Given the description of an element on the screen output the (x, y) to click on. 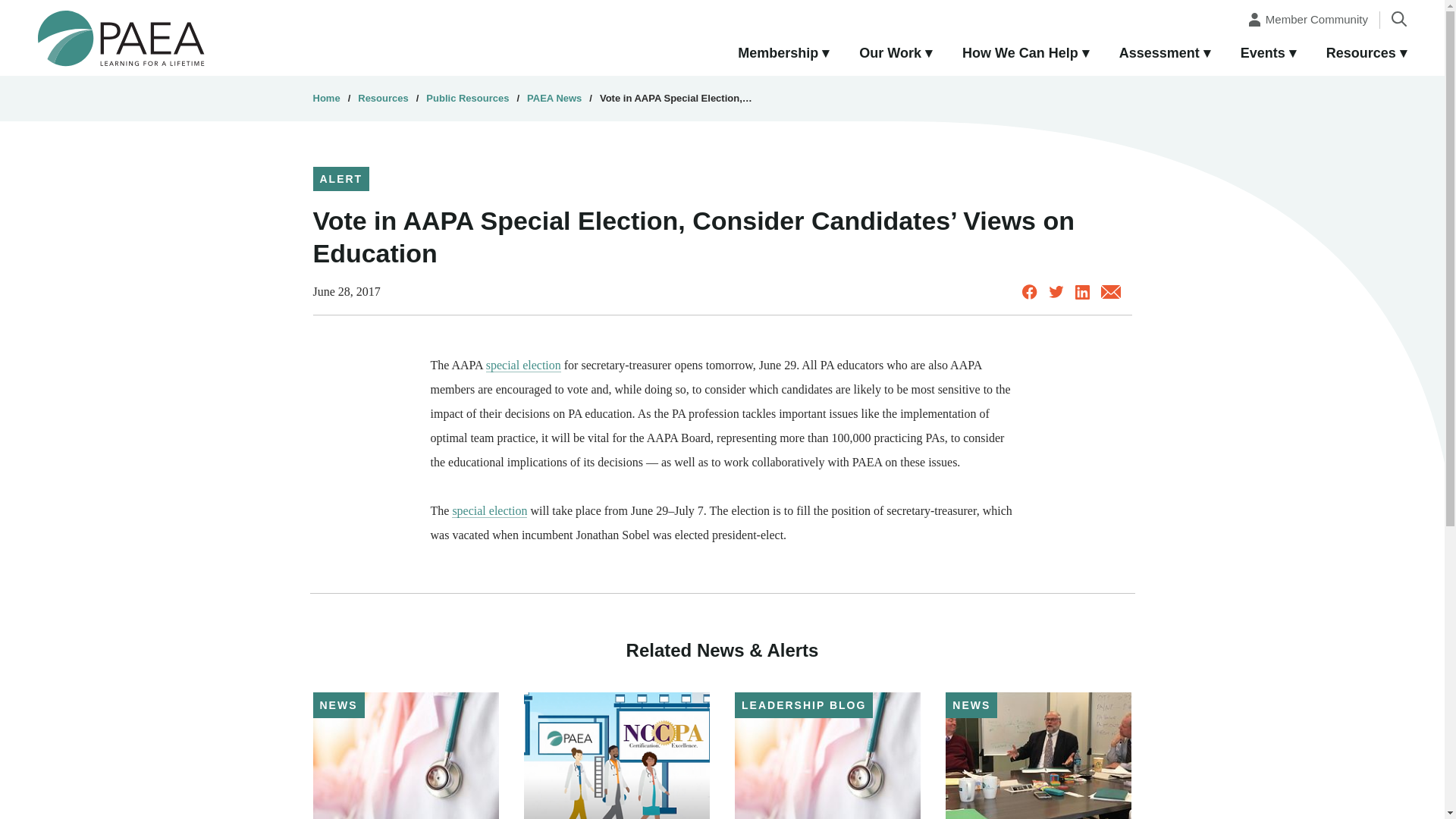
Membership (783, 53)
Our Work (895, 53)
homepage (121, 37)
